Given the description of an element on the screen output the (x, y) to click on. 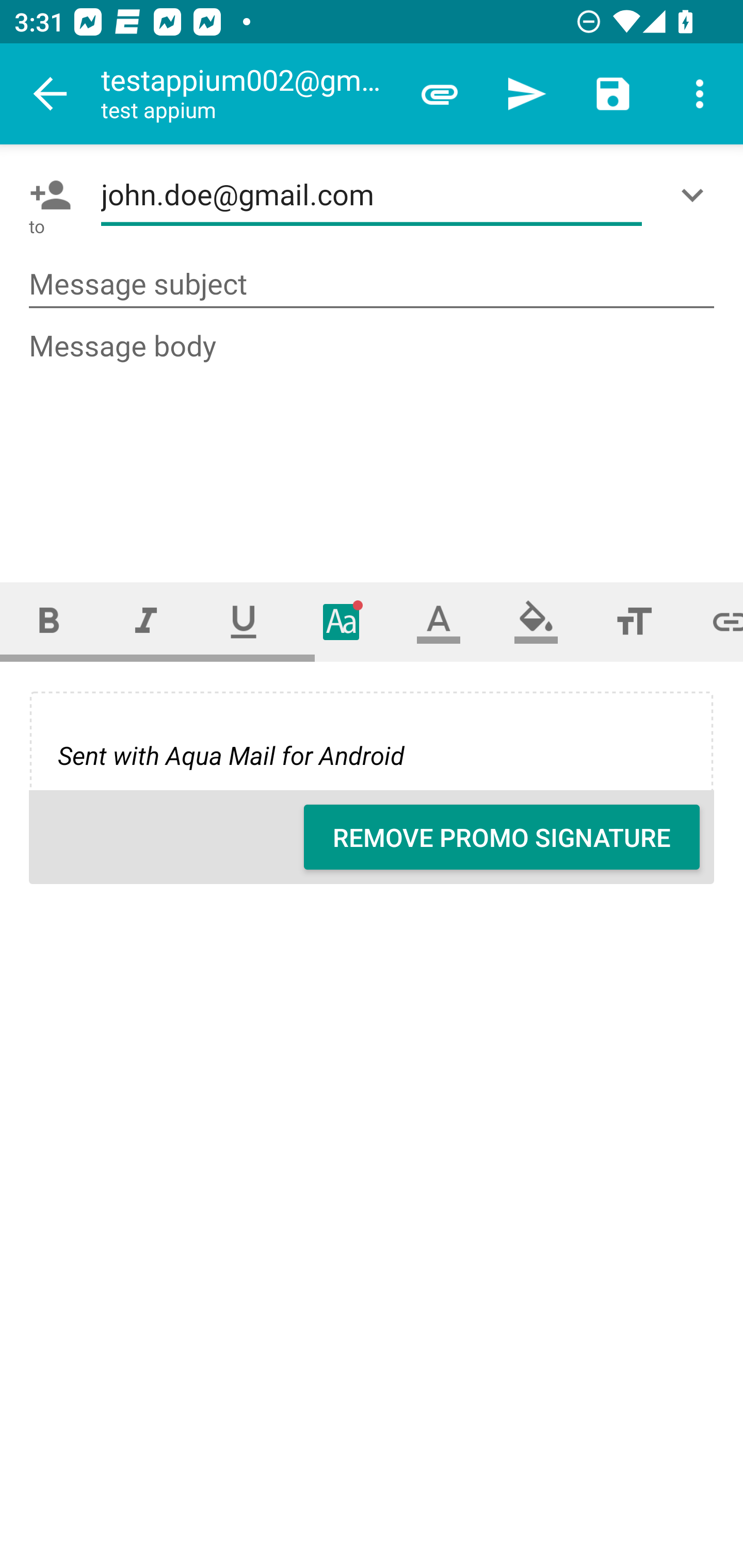
Navigate up (50, 93)
testappium002@gmail.com test appium (248, 93)
Attach (439, 93)
Send (525, 93)
Save (612, 93)
More options (699, 93)
Pick contact: To (46, 195)
Show/Add CC/BCC (696, 195)
john.doe@gmail.com (371, 195)
Message subject (371, 284)
Message body (372, 438)
Bold (48, 621)
Italic (145, 621)
Underline (243, 621)
Typeface (font) (341, 621)
Text color (438, 621)
Fill color (536, 621)
Font size (633, 621)
Set link (712, 621)
REMOVE PROMO SIGNATURE (501, 837)
